Given the description of an element on the screen output the (x, y) to click on. 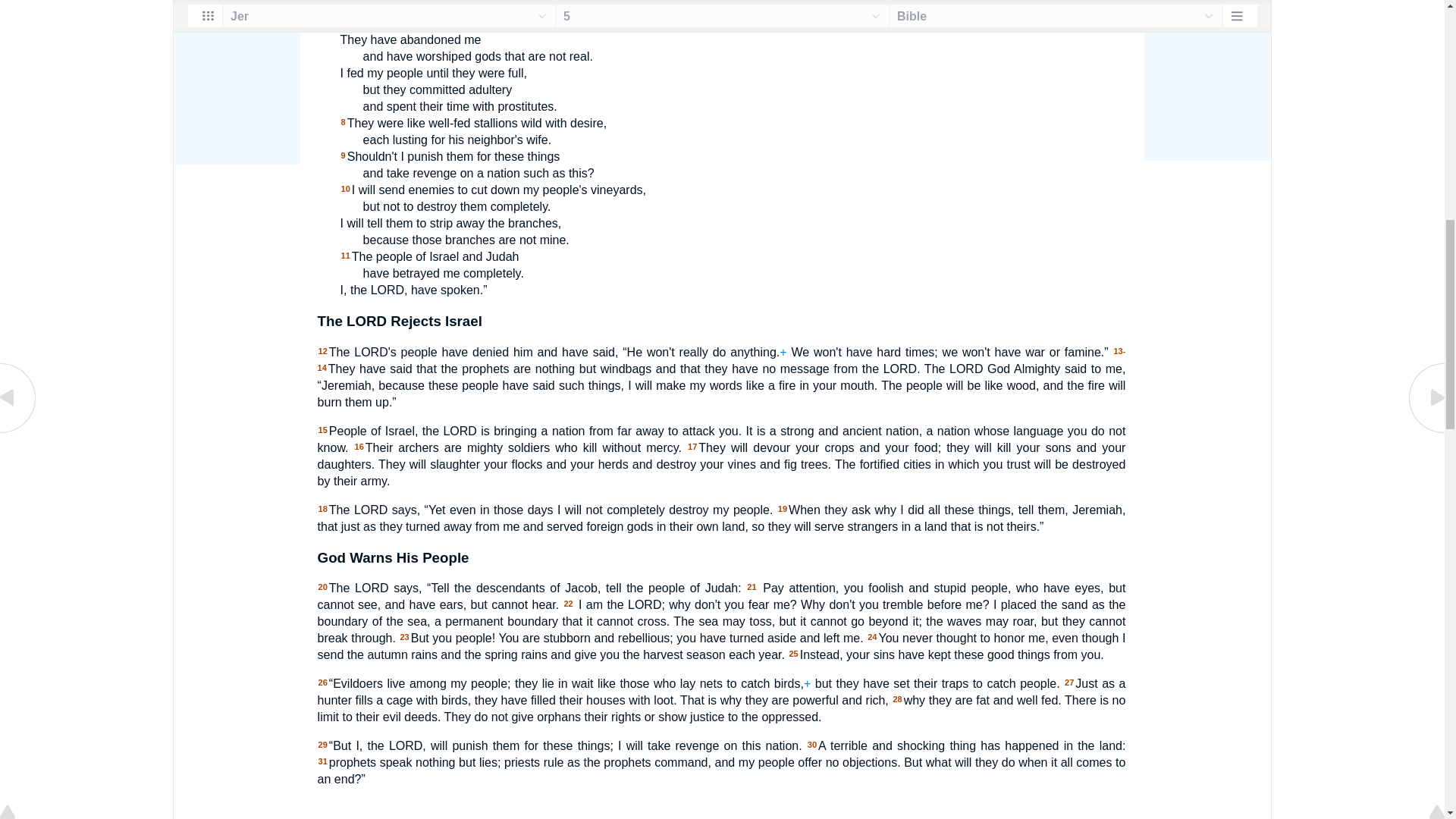
Top of Page (18, 1)
